Given the description of an element on the screen output the (x, y) to click on. 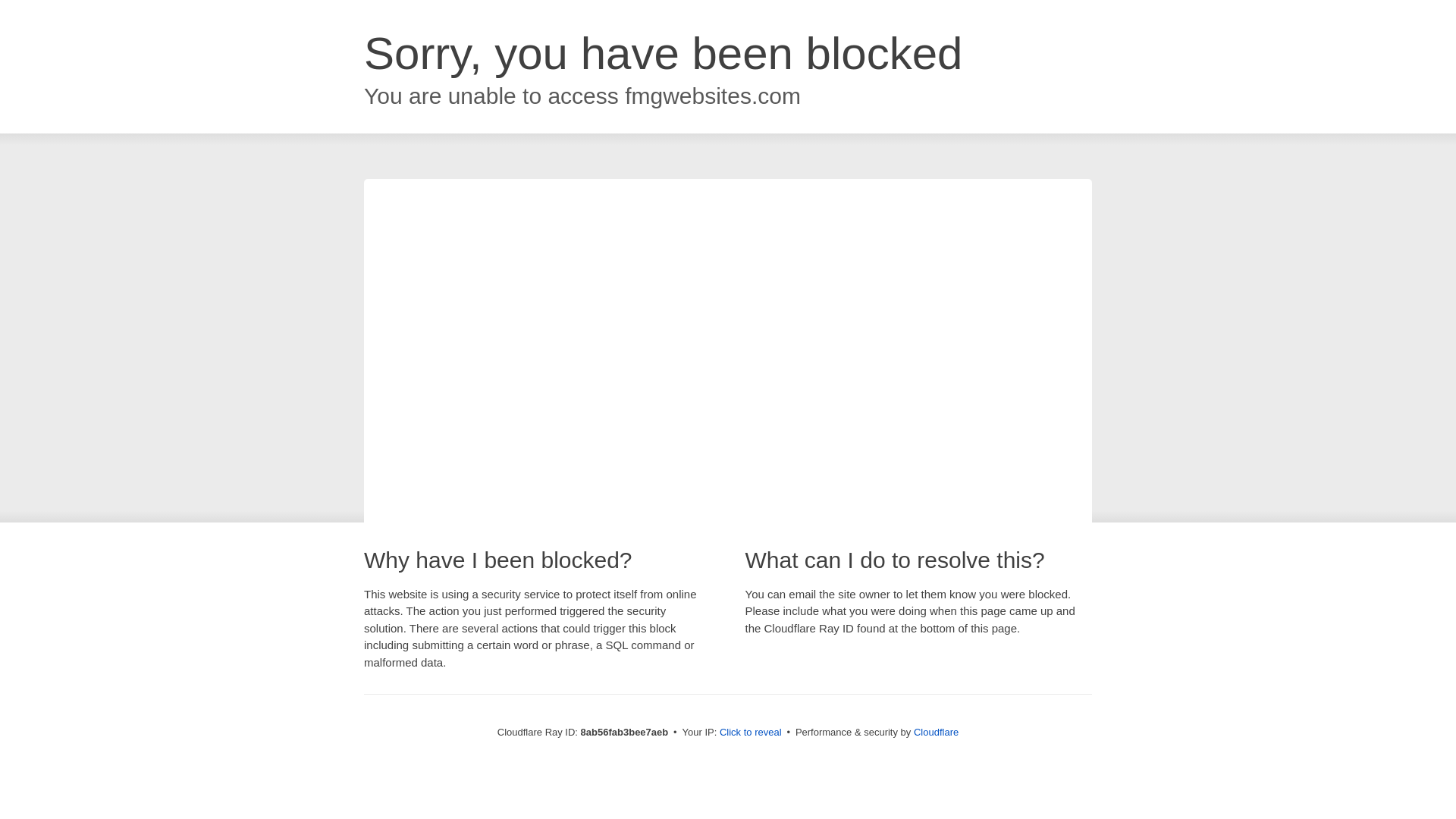
Cloudflare (936, 731)
Click to reveal (750, 732)
